Given the description of an element on the screen output the (x, y) to click on. 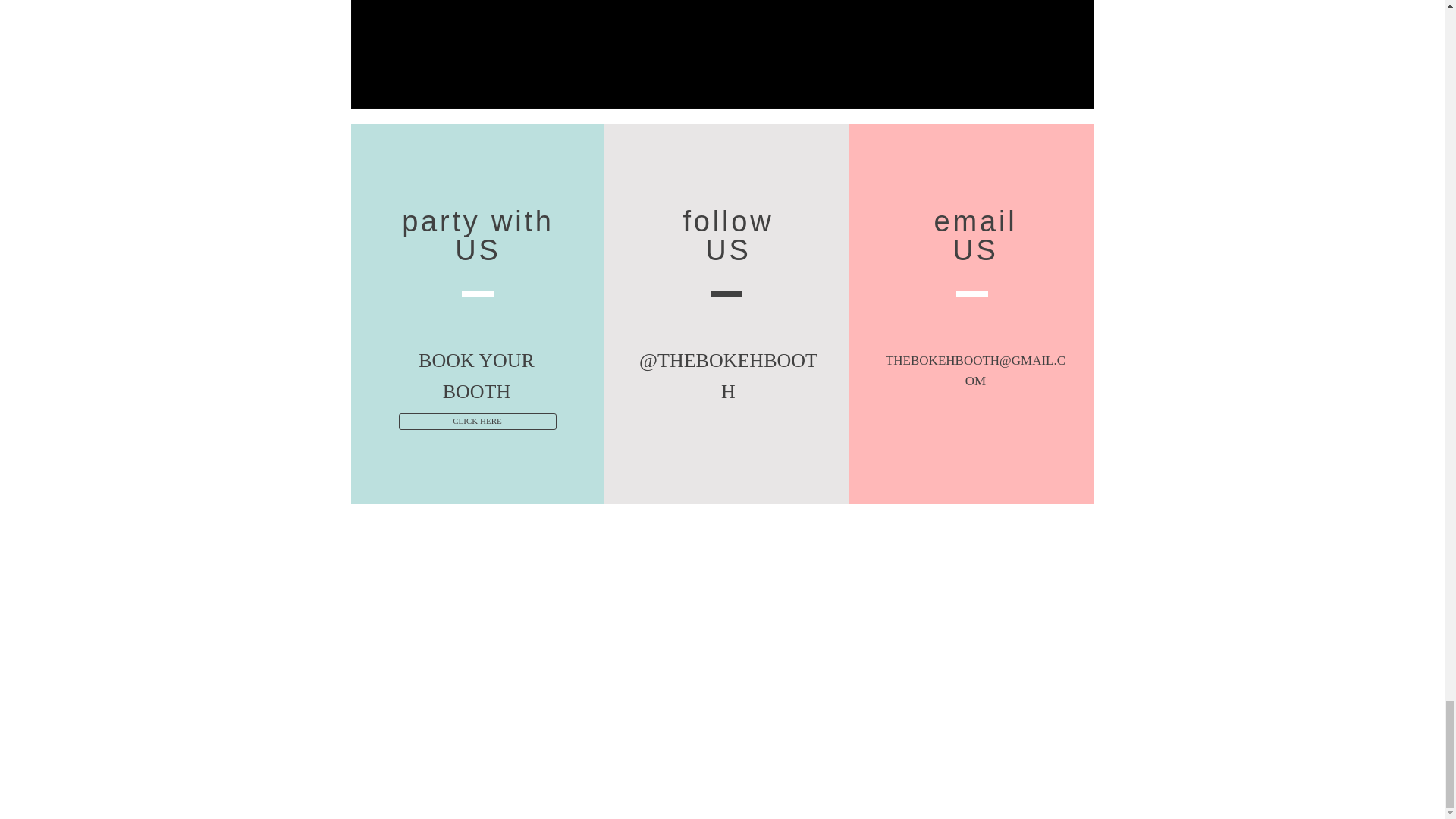
CLICK HERE (477, 421)
